Given the description of an element on the screen output the (x, y) to click on. 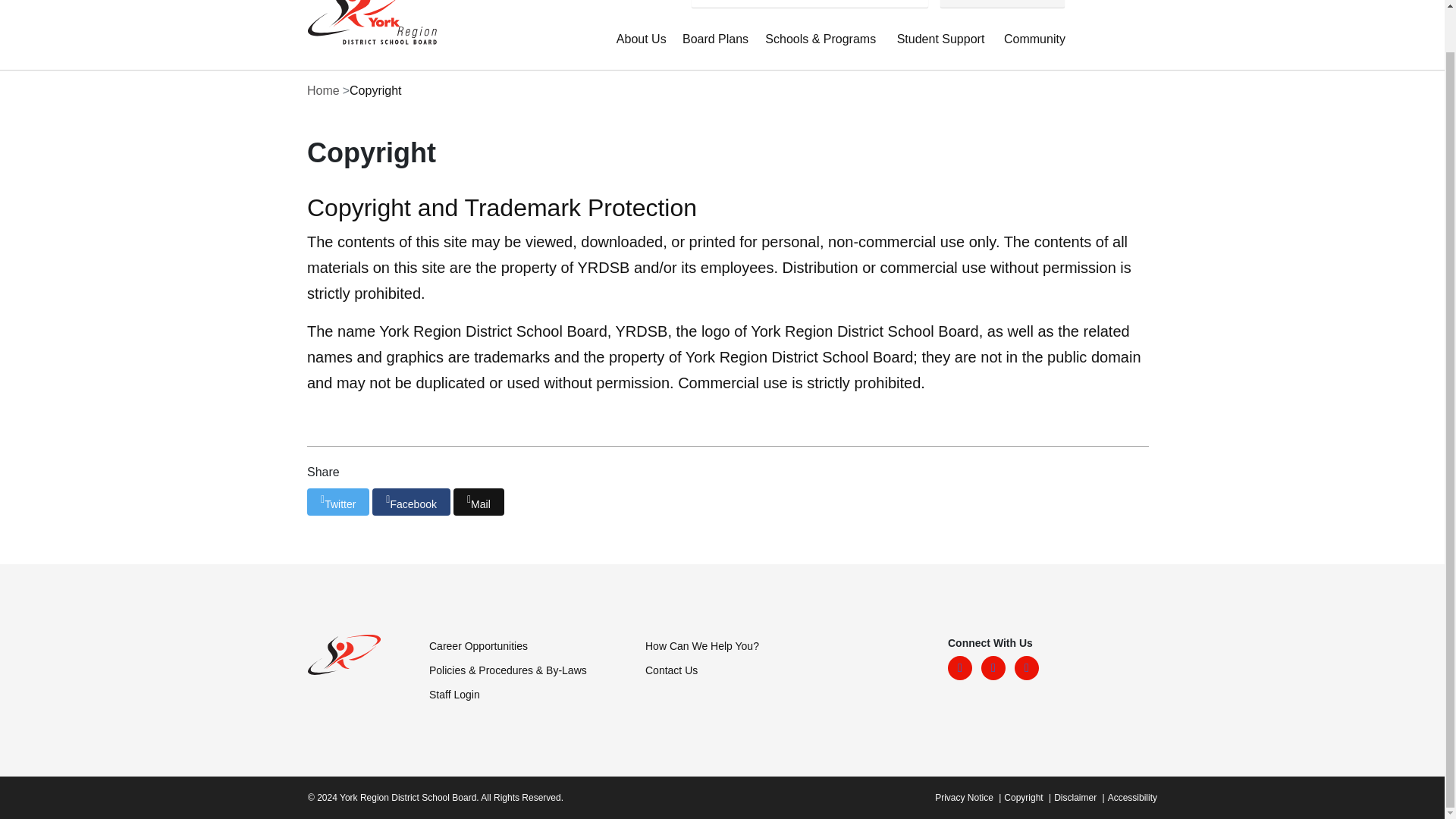
Home (367, 24)
Board Plans (717, 46)
About Us (642, 46)
About Us (642, 46)
Board Plans (717, 46)
